Given the description of an element on the screen output the (x, y) to click on. 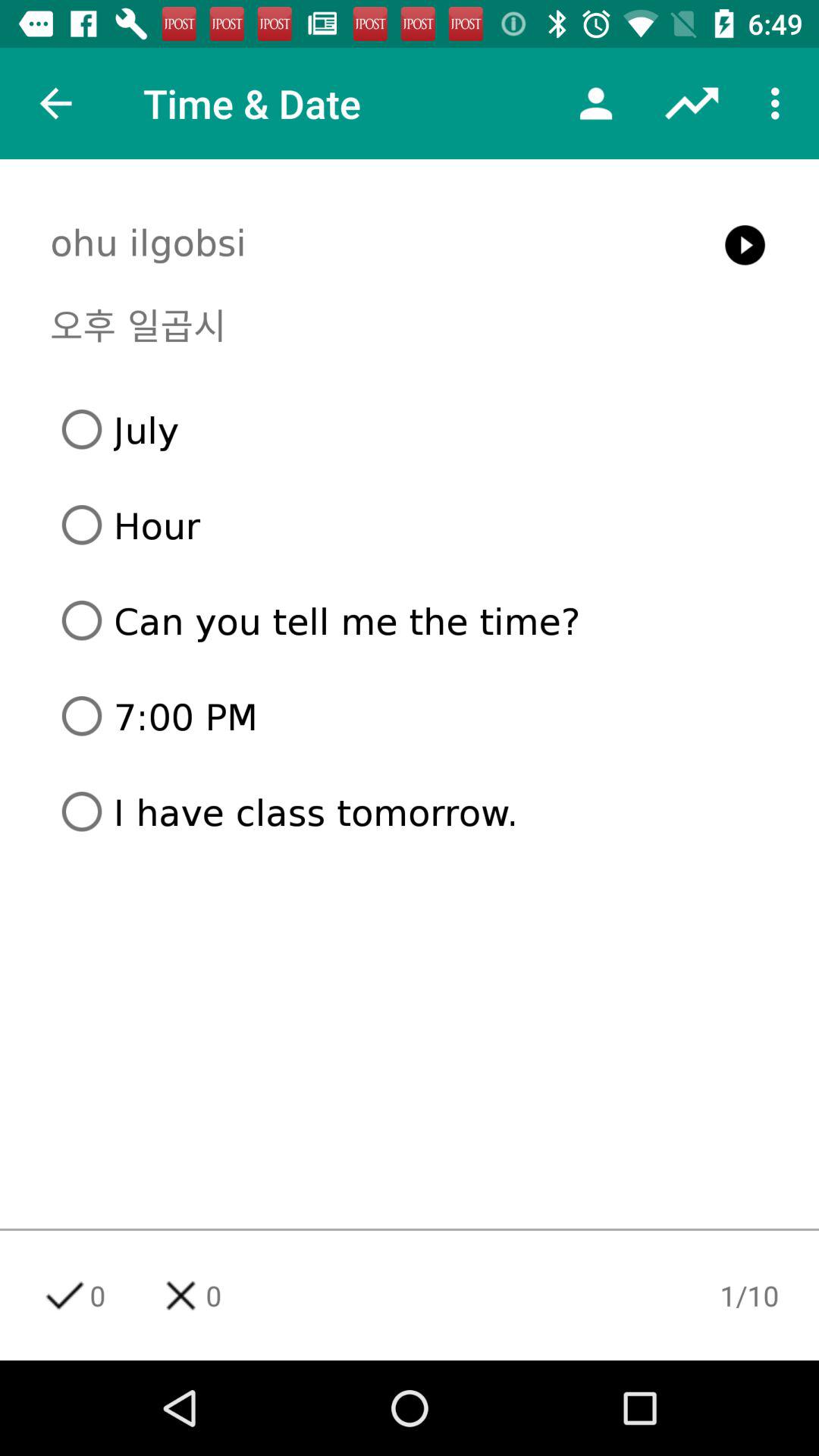
turn off i have class item (415, 811)
